Given the description of an element on the screen output the (x, y) to click on. 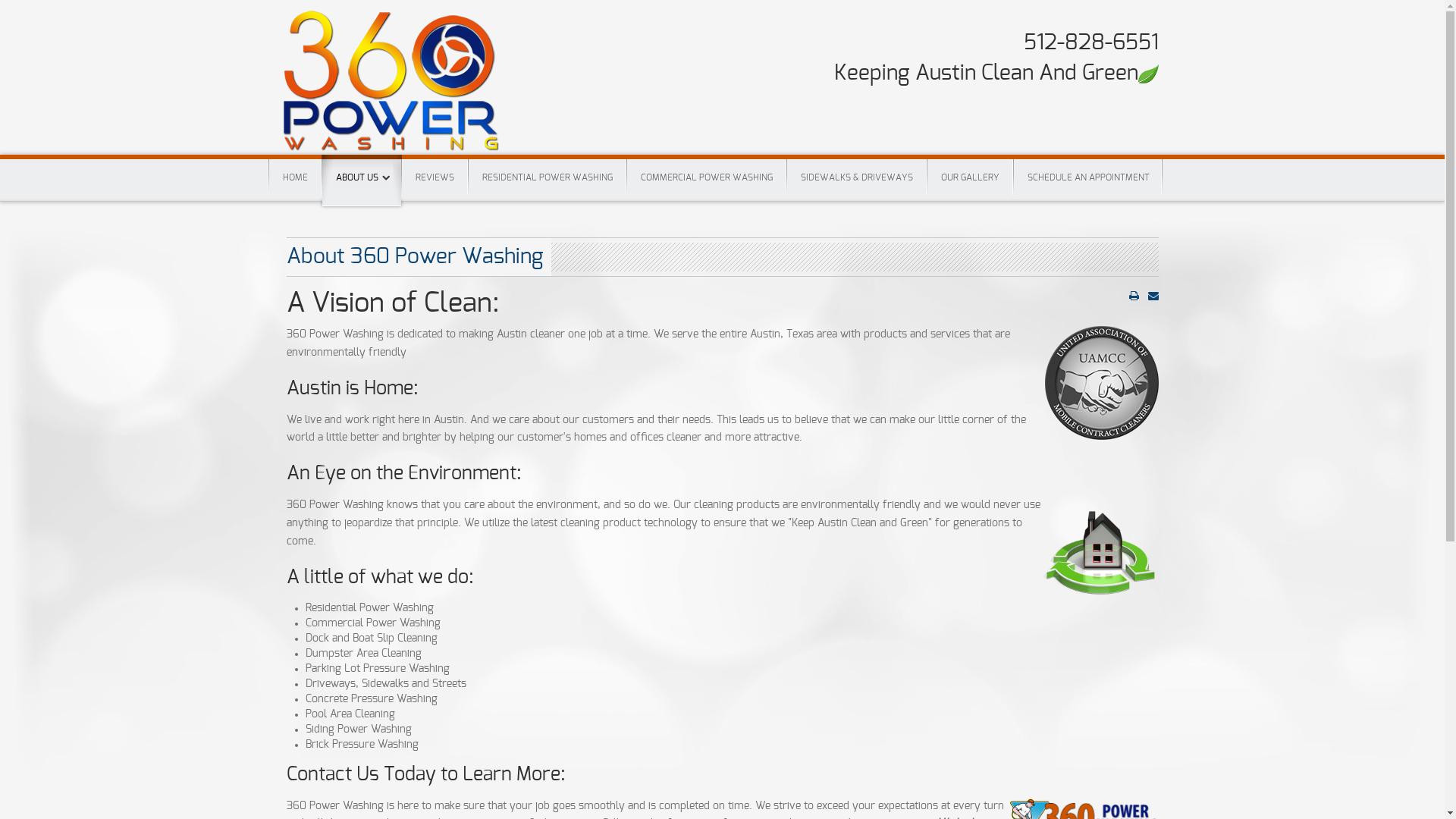
REVIEWS Element type: text (434, 177)
RESIDENTIAL POWER WASHING Element type: text (547, 177)
Email Element type: hover (1153, 296)
Print Element type: hover (1133, 296)
SIDEWALKS & DRIVEWAYS Element type: text (856, 177)
SCHEDULE AN APPOINTMENT Element type: text (1087, 177)
About 360 Power Washing Element type: text (414, 256)
COMMERCIAL POWER WASHING Element type: text (705, 177)
HOME Element type: text (294, 177)
ABOUT US Element type: text (360, 180)
OUR GALLERY Element type: text (969, 177)
